Given the description of an element on the screen output the (x, y) to click on. 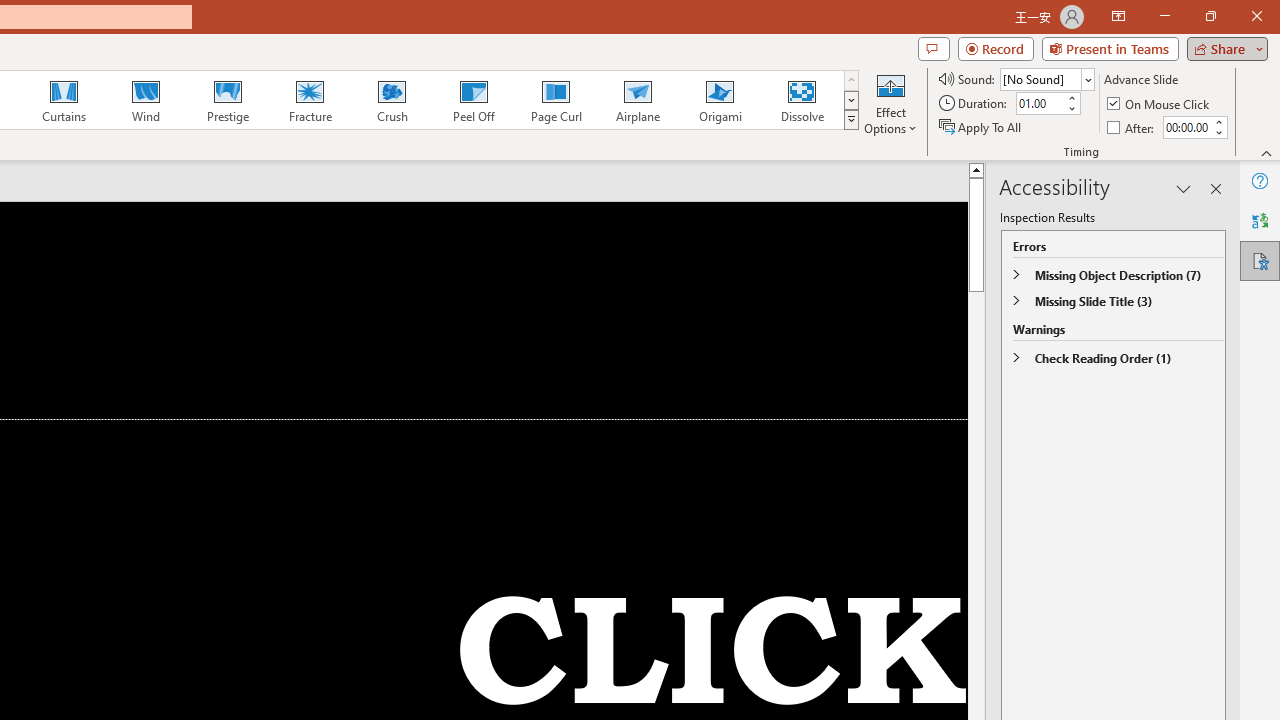
Close pane (1215, 188)
Effect Options (890, 102)
Wind (145, 100)
Open (1087, 79)
On Mouse Click (1159, 103)
More (1218, 121)
Page Curl (555, 100)
Class: NetUIImage (851, 119)
